Given the description of an element on the screen output the (x, y) to click on. 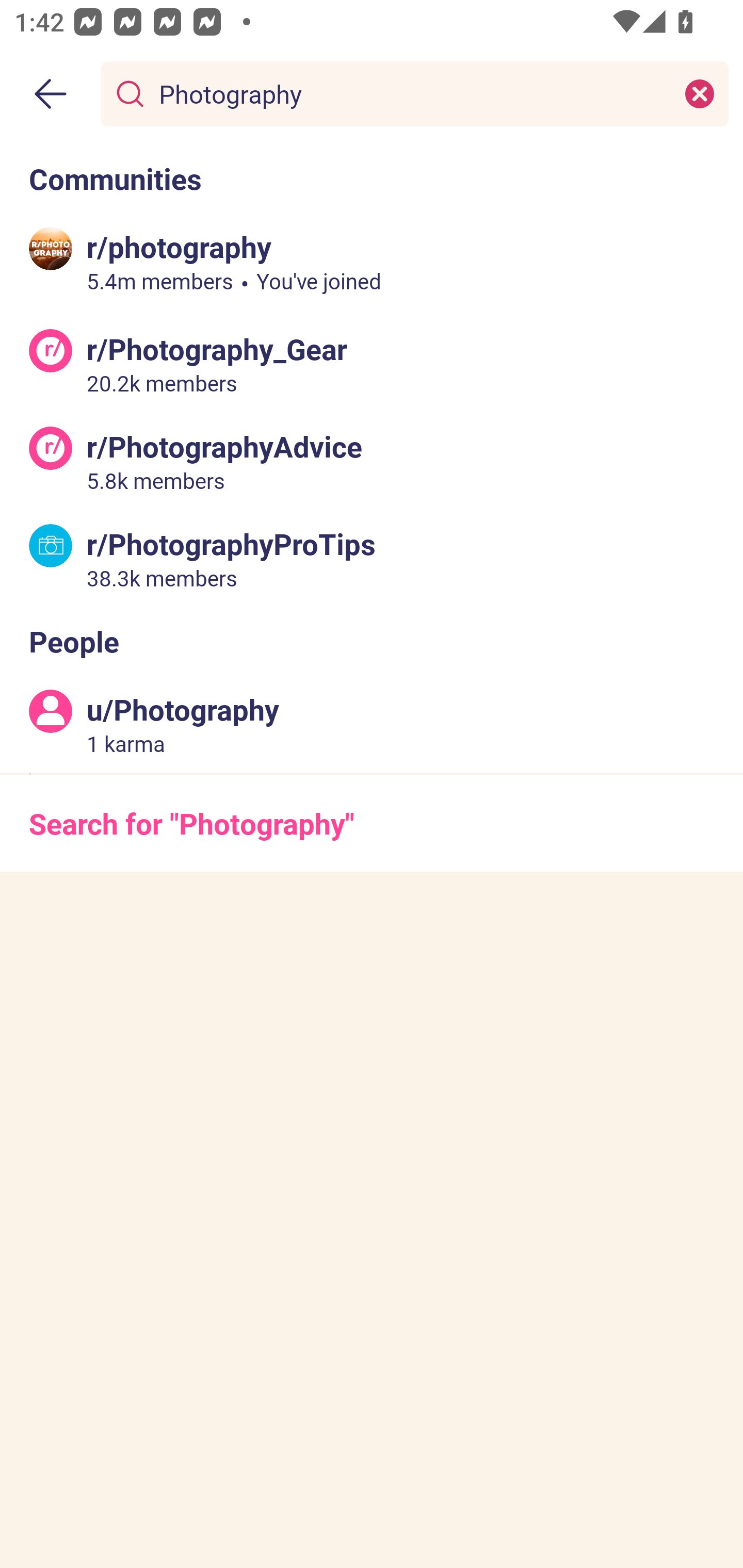
Back (50, 93)
Photography (410, 93)
Clear search (699, 93)
u/Photography 1 karma 1 karma (371, 724)
Search for "Photography" (371, 822)
